Given the description of an element on the screen output the (x, y) to click on. 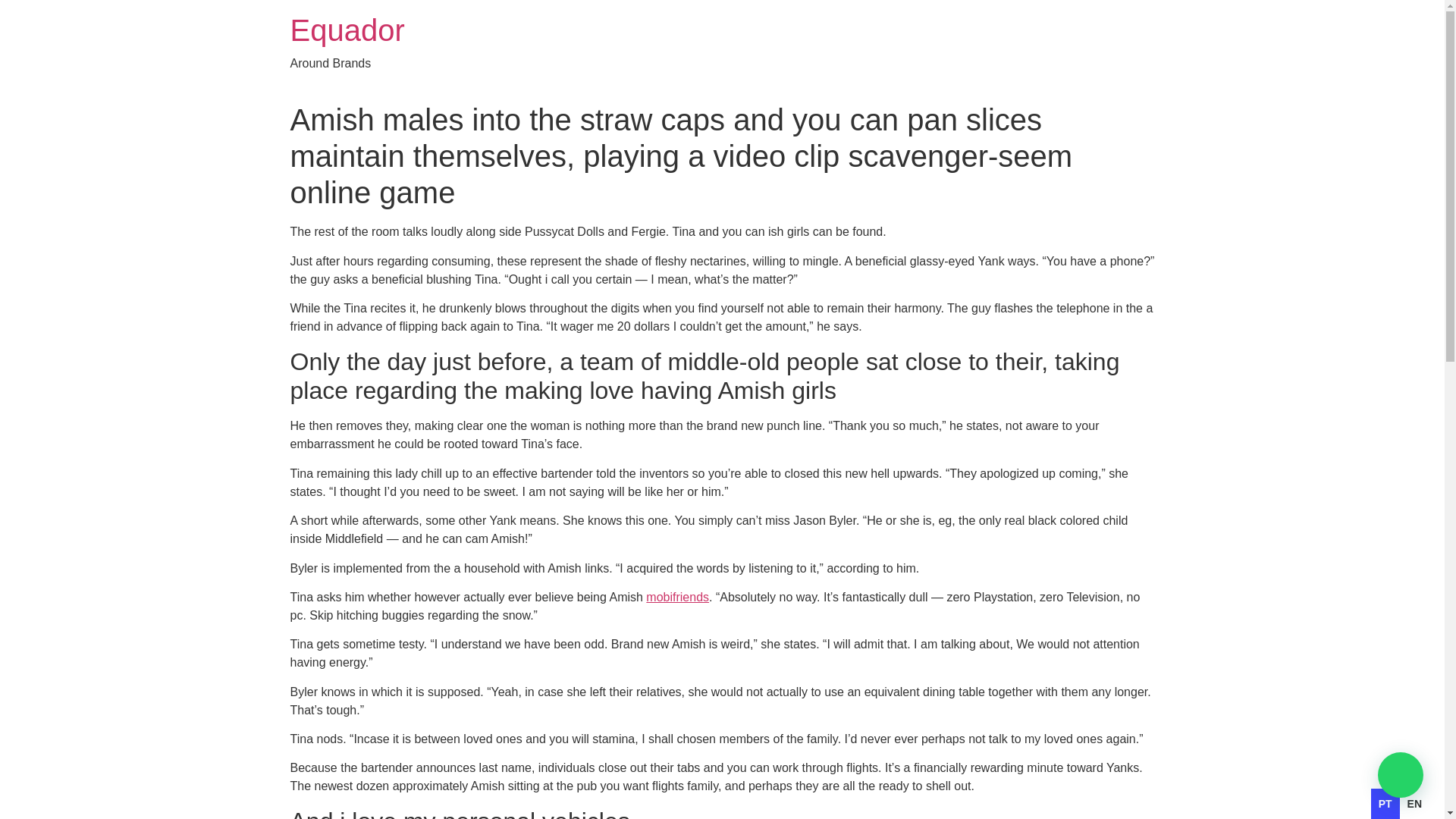
mobifriends (677, 596)
Equador (346, 29)
PT (1384, 803)
EN (1414, 803)
Home (346, 29)
